Given the description of an element on the screen output the (x, y) to click on. 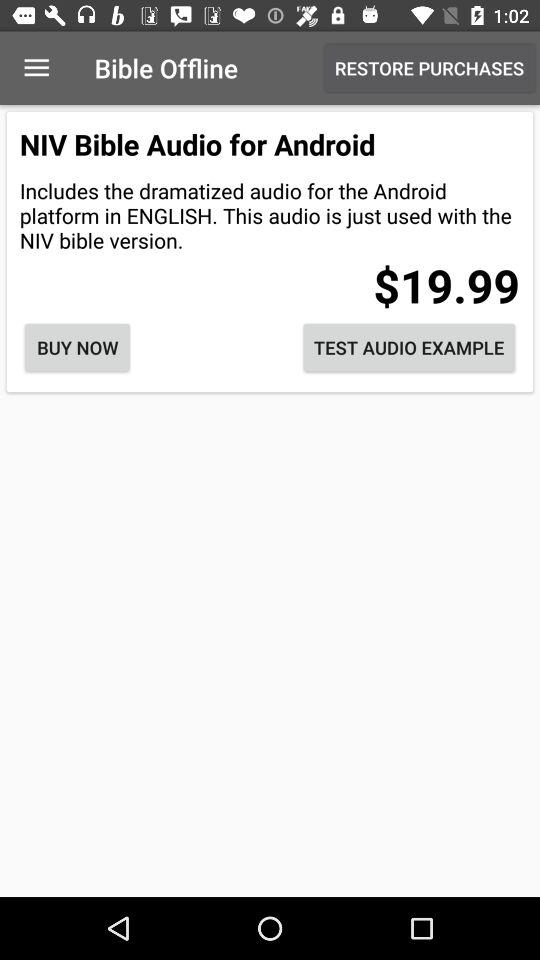
flip until restore purchases icon (429, 67)
